Given the description of an element on the screen output the (x, y) to click on. 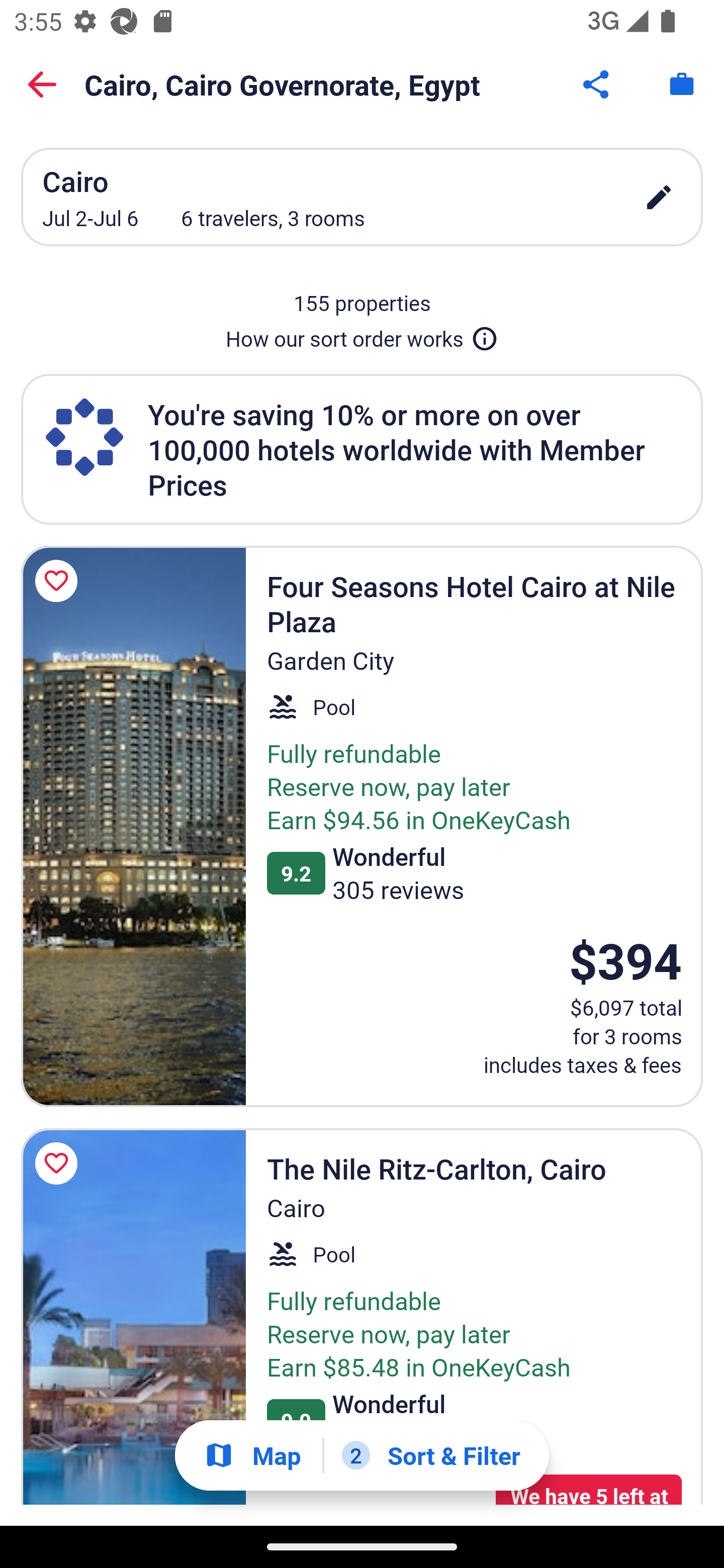
Back (42, 84)
Share Button (597, 84)
Trips. Button (681, 84)
Cairo Jul 2-Jul 6 6 travelers, 3 rooms edit (361, 196)
How our sort order works (361, 334)
Four Seasons Hotel Cairo at Nile Plaza (133, 826)
Save The Nile Ritz-Carlton, Cairo to a trip (59, 1163)
The Nile Ritz-Carlton, Cairo (133, 1316)
2 Sort & Filter 2 Filters applied. Filters Button (430, 1455)
Show map Map Show map Button (252, 1455)
